Given the description of an element on the screen output the (x, y) to click on. 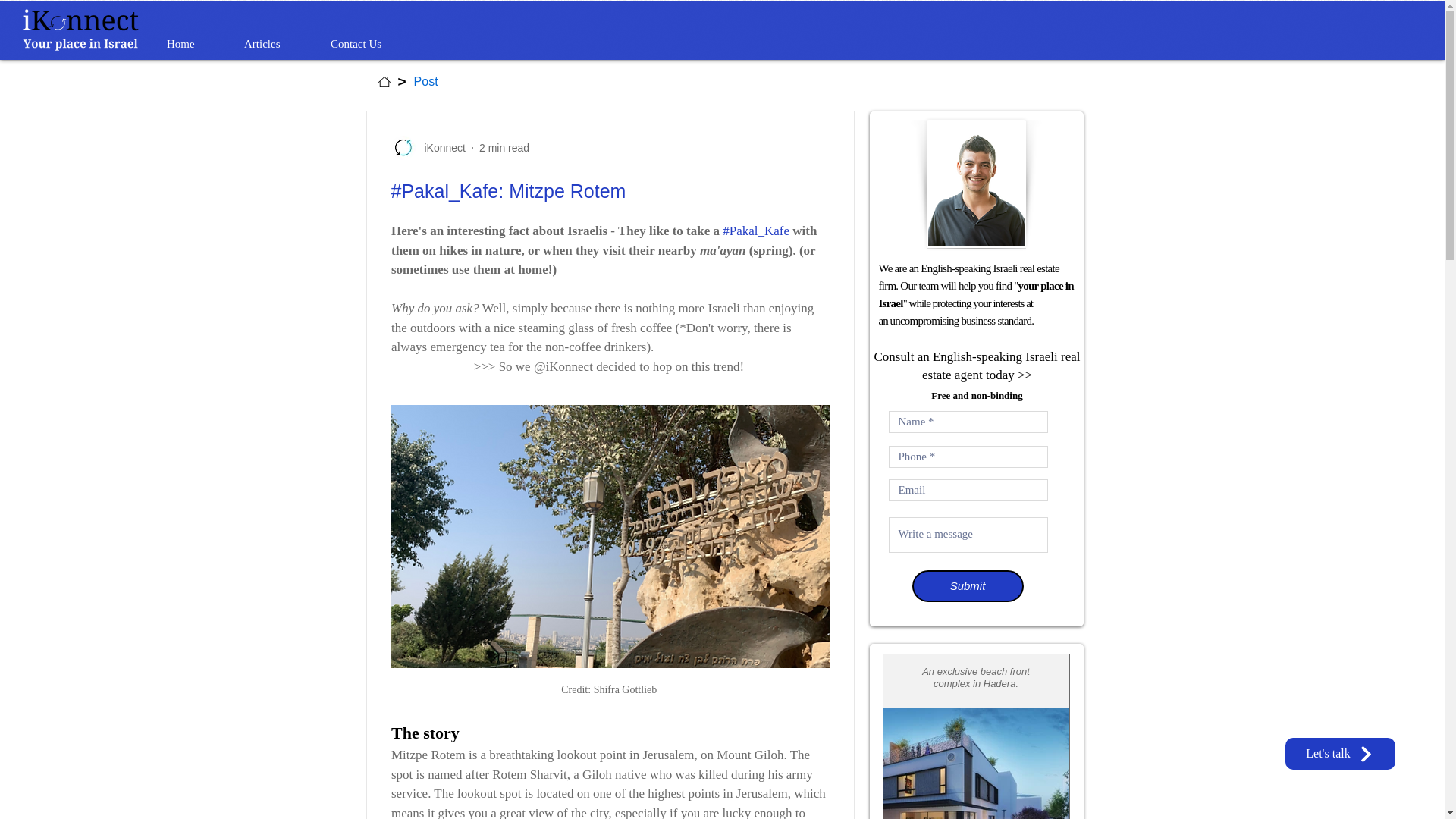
iKonnect (439, 147)
Let's talk (1339, 753)
Post (425, 81)
Contact Us (371, 43)
Home (193, 43)
Submit (967, 585)
2 min read (504, 146)
Articles (276, 43)
